Given the description of an element on the screen output the (x, y) to click on. 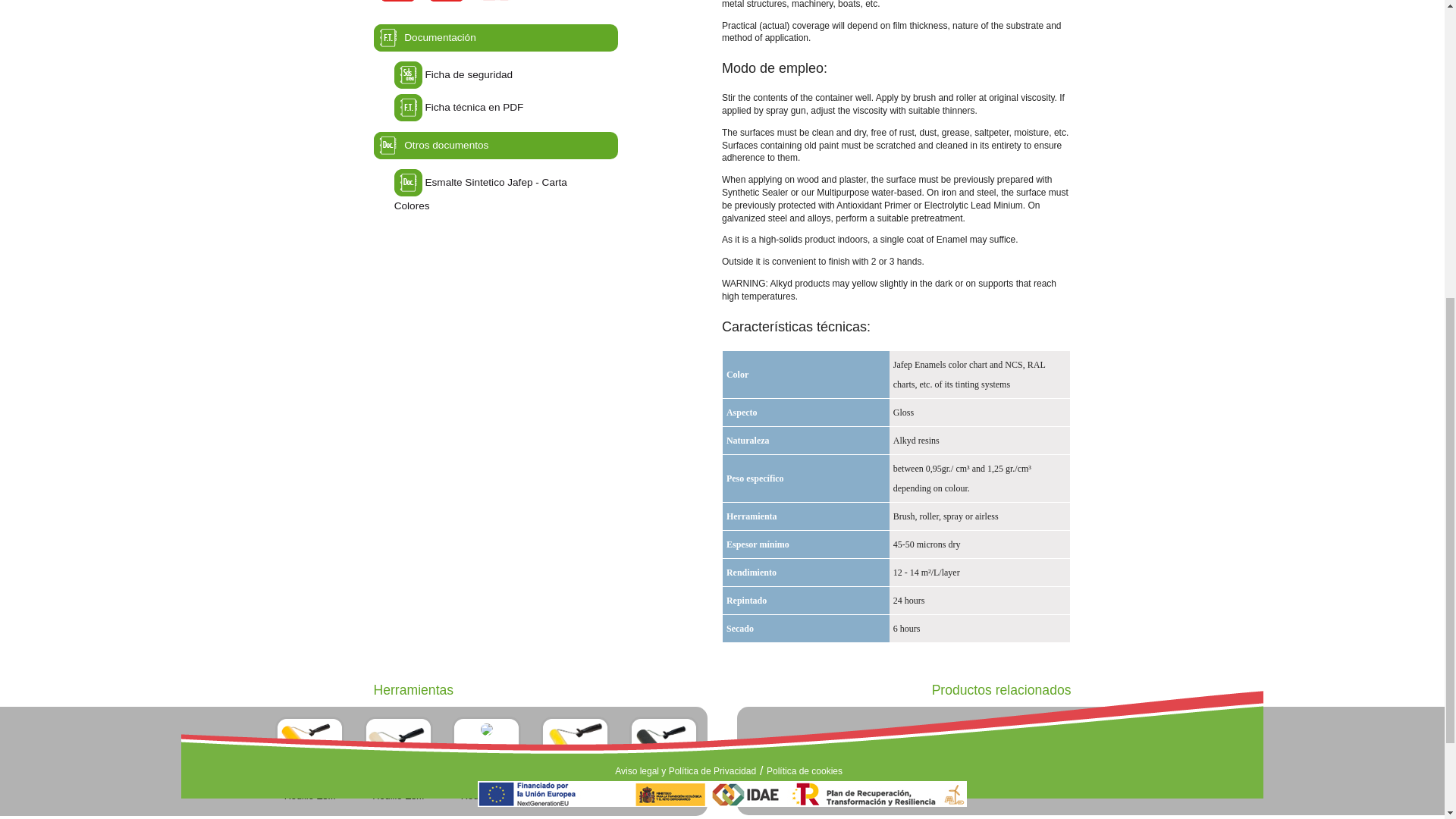
Esmalte Sintetico Jafep - Carta Colores (408, 182)
Ficha de seguridad (468, 74)
Esmalte Sintetico Jafep - Carta Colores (480, 193)
Esmalte Sintetico Jafep - Carta Colores (480, 193)
Ficha de seguridad (468, 74)
Ficha de seguridad (408, 74)
